Given the description of an element on the screen output the (x, y) to click on. 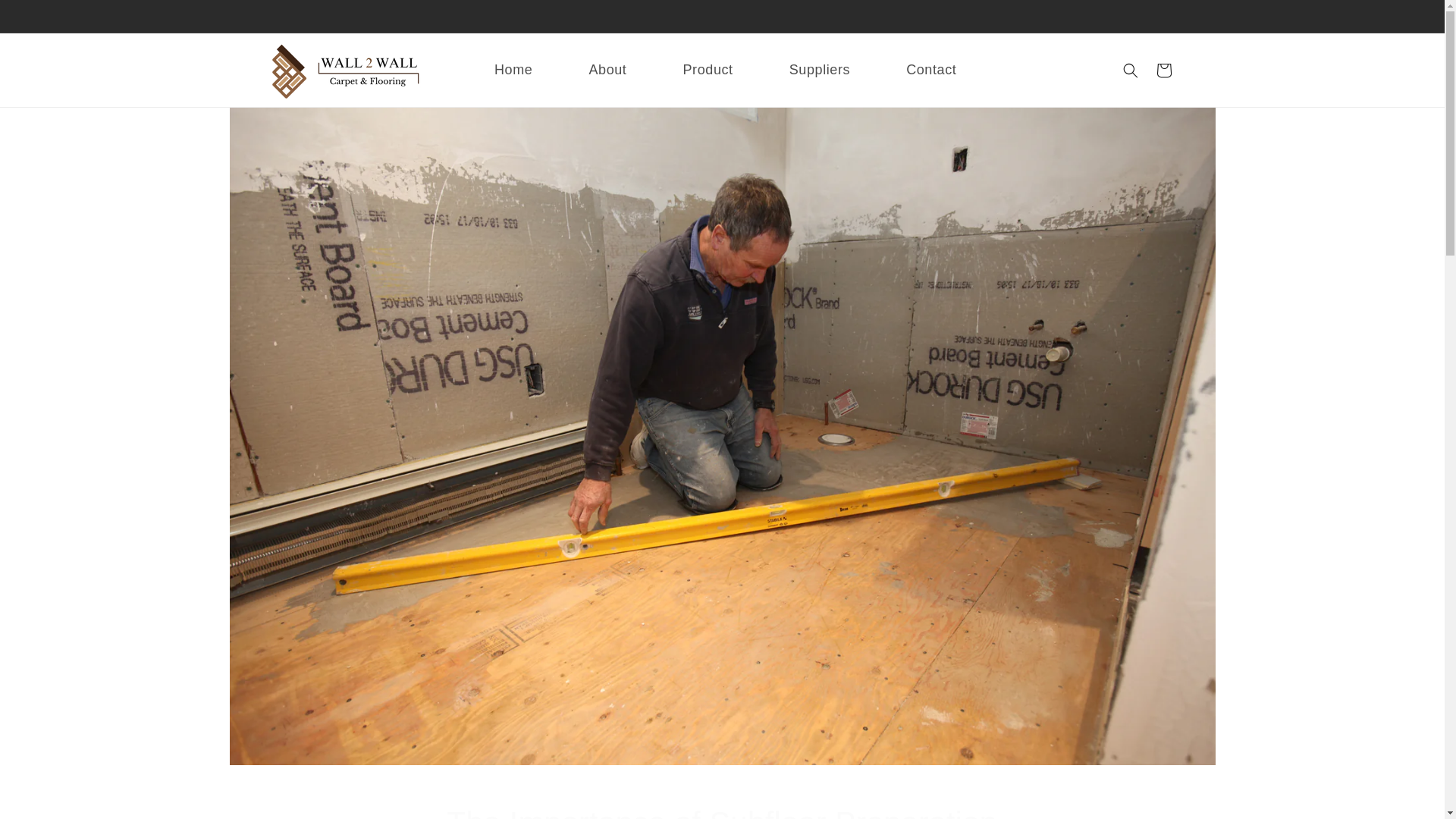
Suppliers (800, 70)
Flooring Calculator (735, 45)
Home (493, 70)
Contact (912, 70)
Measuring (866, 45)
Visualizers (721, 811)
About (977, 45)
Cart (587, 70)
Request A Quote (1163, 69)
